Given the description of an element on the screen output the (x, y) to click on. 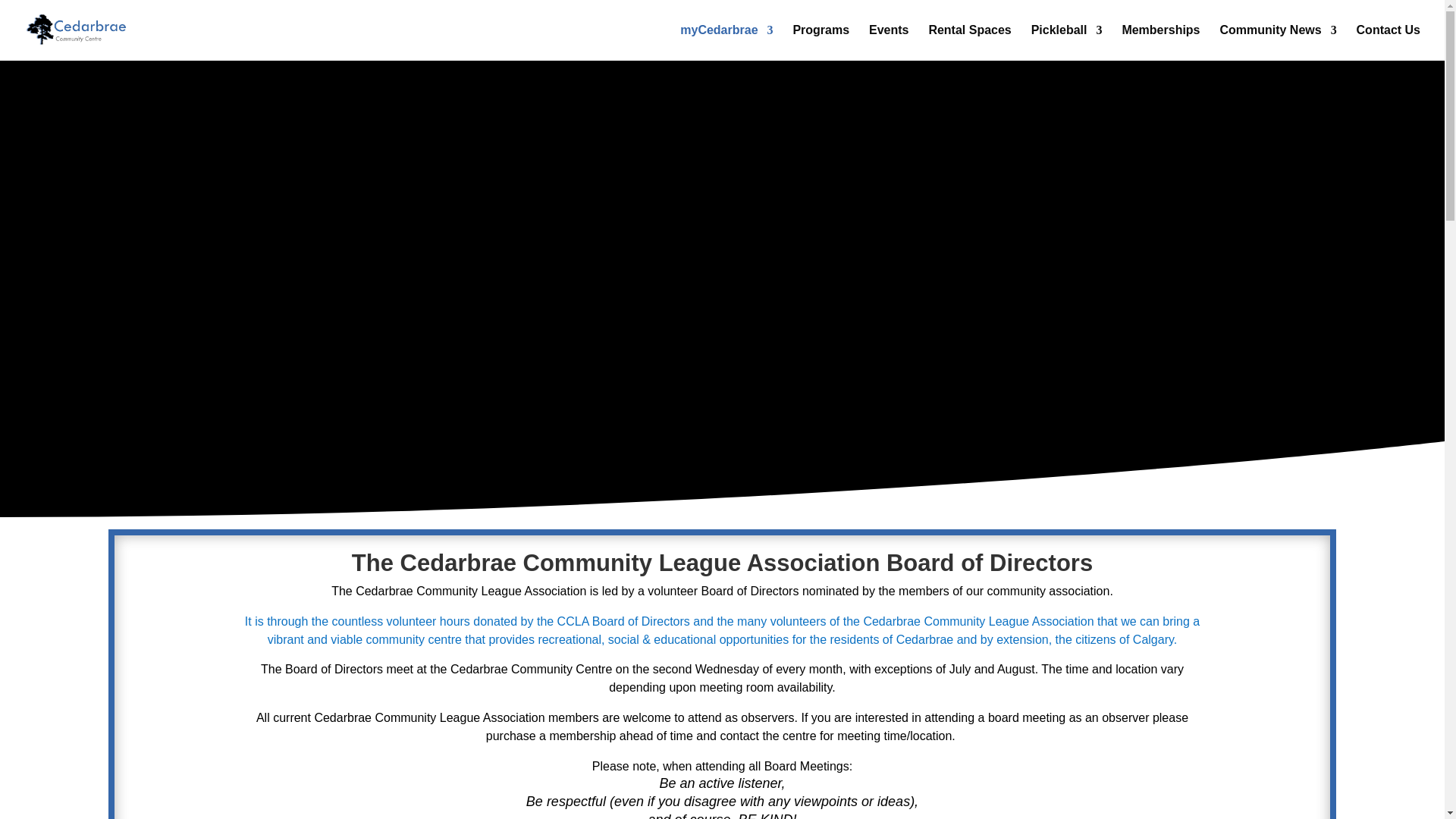
Rental Spaces (969, 42)
myCedarbrae (726, 42)
Contact Us (1388, 42)
Pickleball (1066, 42)
Community News (1278, 42)
Events (888, 42)
Programs (820, 42)
Memberships (1160, 42)
